Given the description of an element on the screen output the (x, y) to click on. 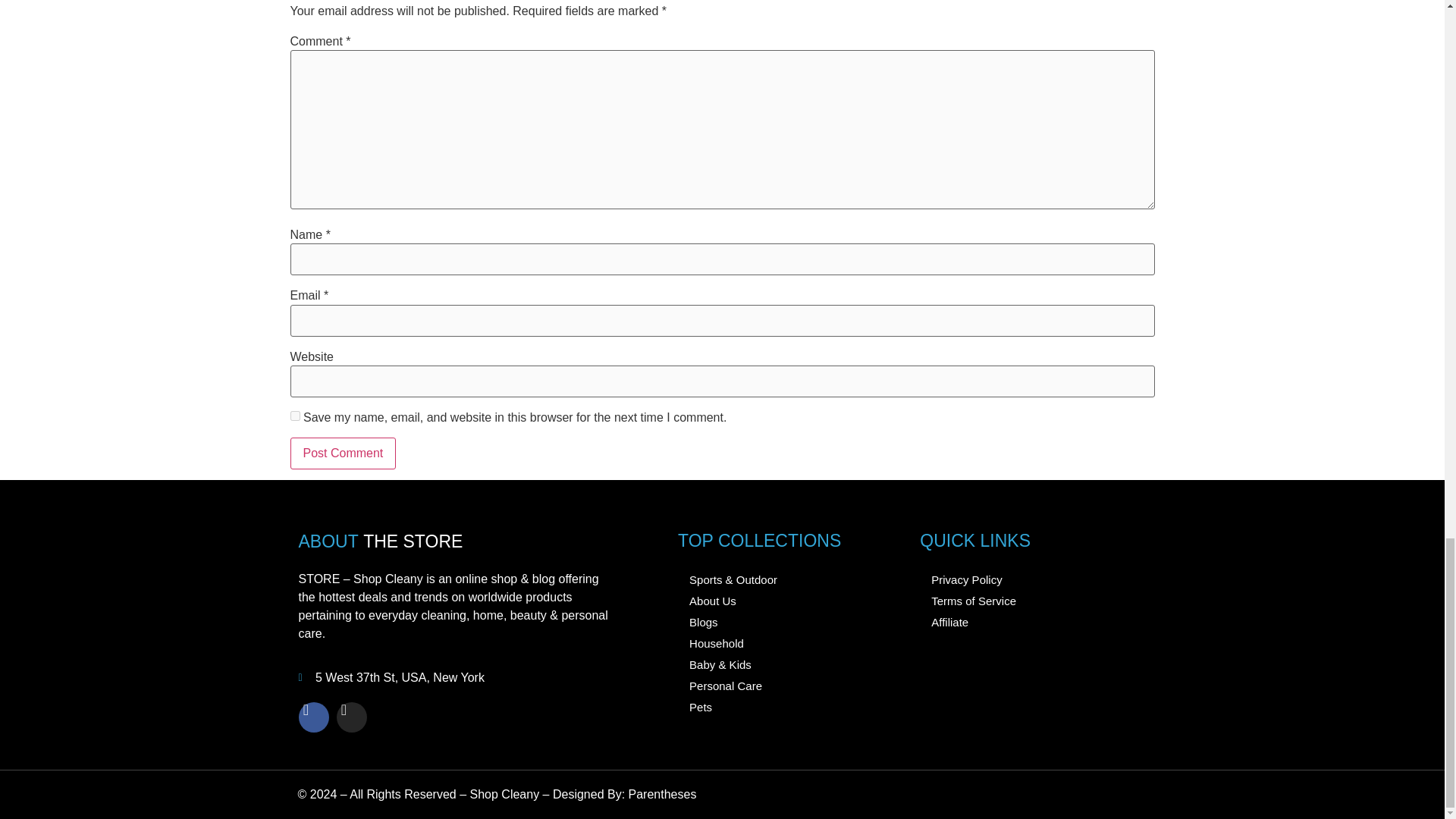
About Us (791, 600)
Privacy Policy (1031, 579)
Post Comment (342, 453)
Personal Care (791, 685)
Post Comment (342, 453)
Blogs (791, 622)
Terms of Service (1031, 600)
Affiliate (1031, 622)
yes (294, 415)
Household (791, 643)
Parentheses (662, 793)
Pets (791, 707)
